Given the description of an element on the screen output the (x, y) to click on. 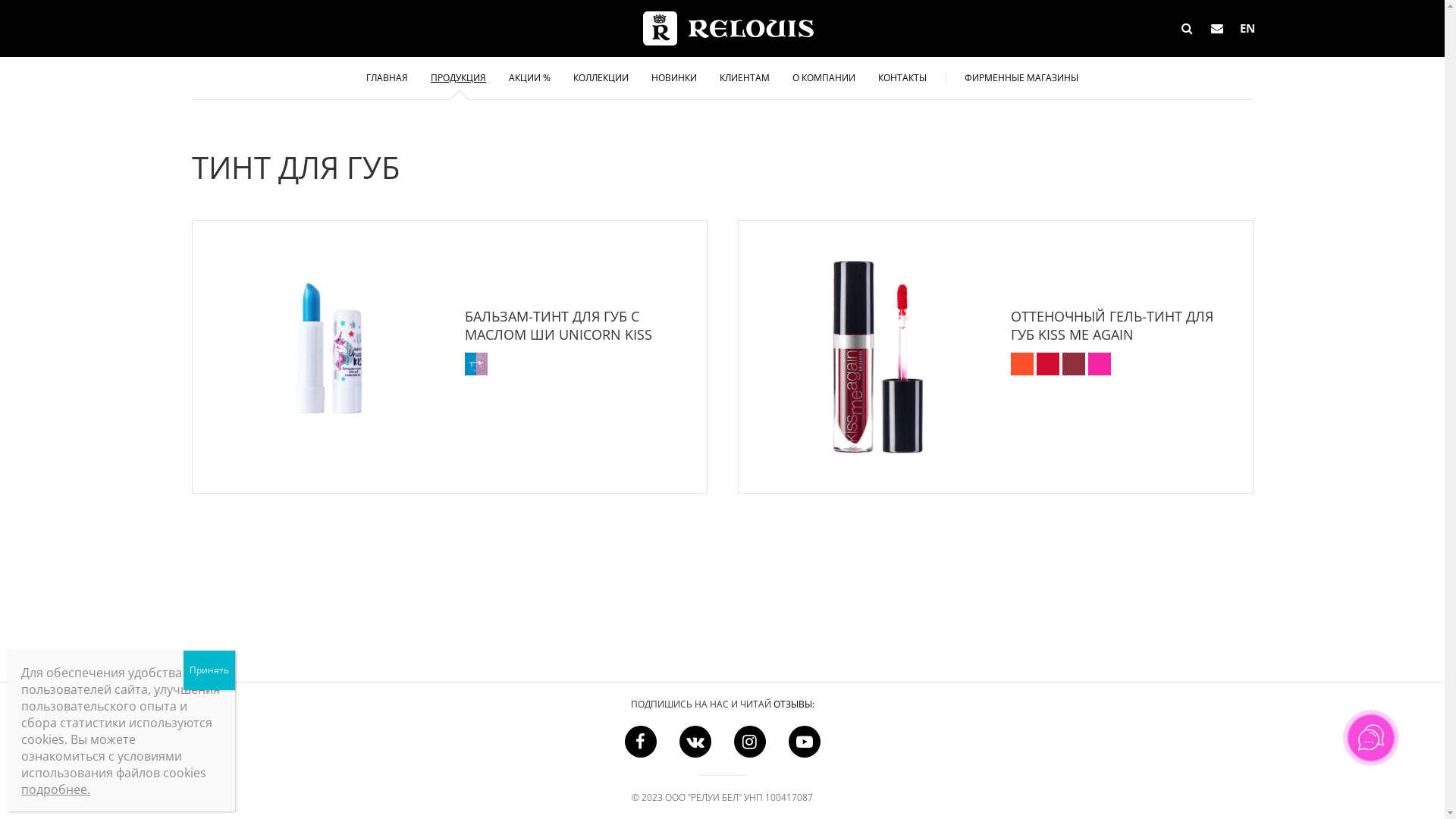
EN Element type: text (1247, 28)
